Given the description of an element on the screen output the (x, y) to click on. 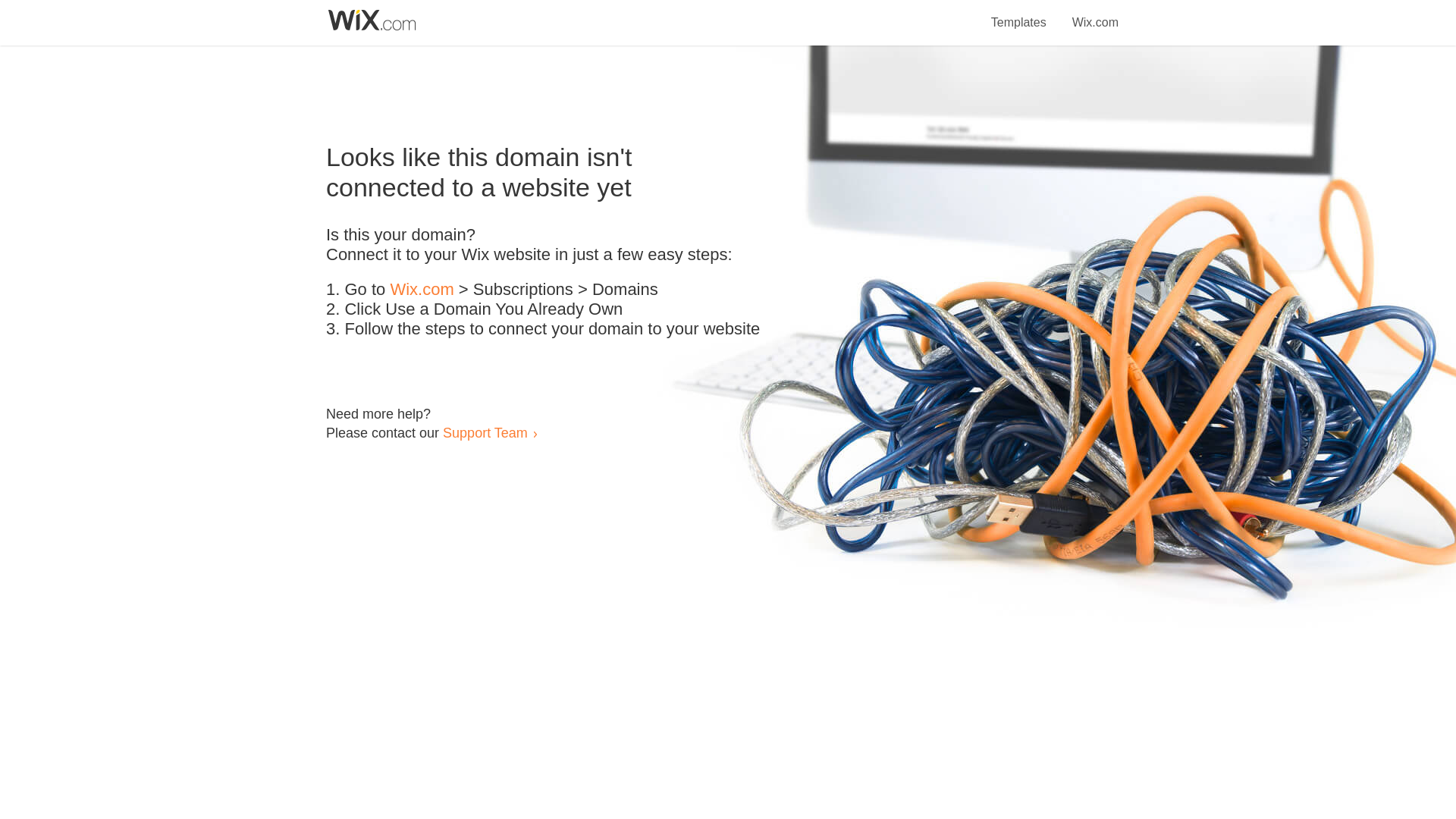
Templates (1018, 14)
Wix.com (421, 289)
Wix.com (1095, 14)
Support Team (484, 432)
